Given the description of an element on the screen output the (x, y) to click on. 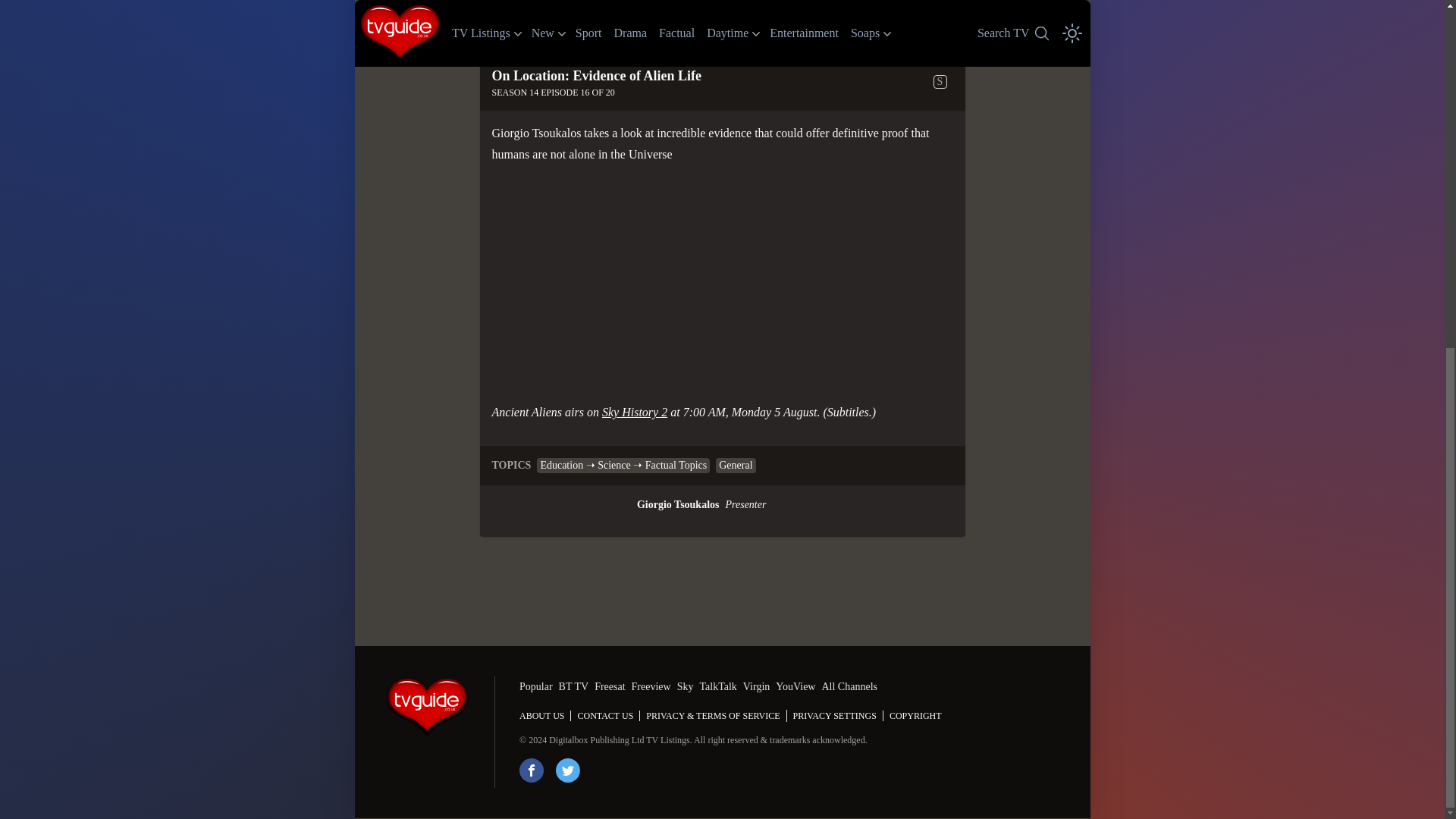
TVGuide.co.uk on Facebook (531, 770)
TVGuide.co.uk on Twitter (567, 770)
